Given the description of an element on the screen output the (x, y) to click on. 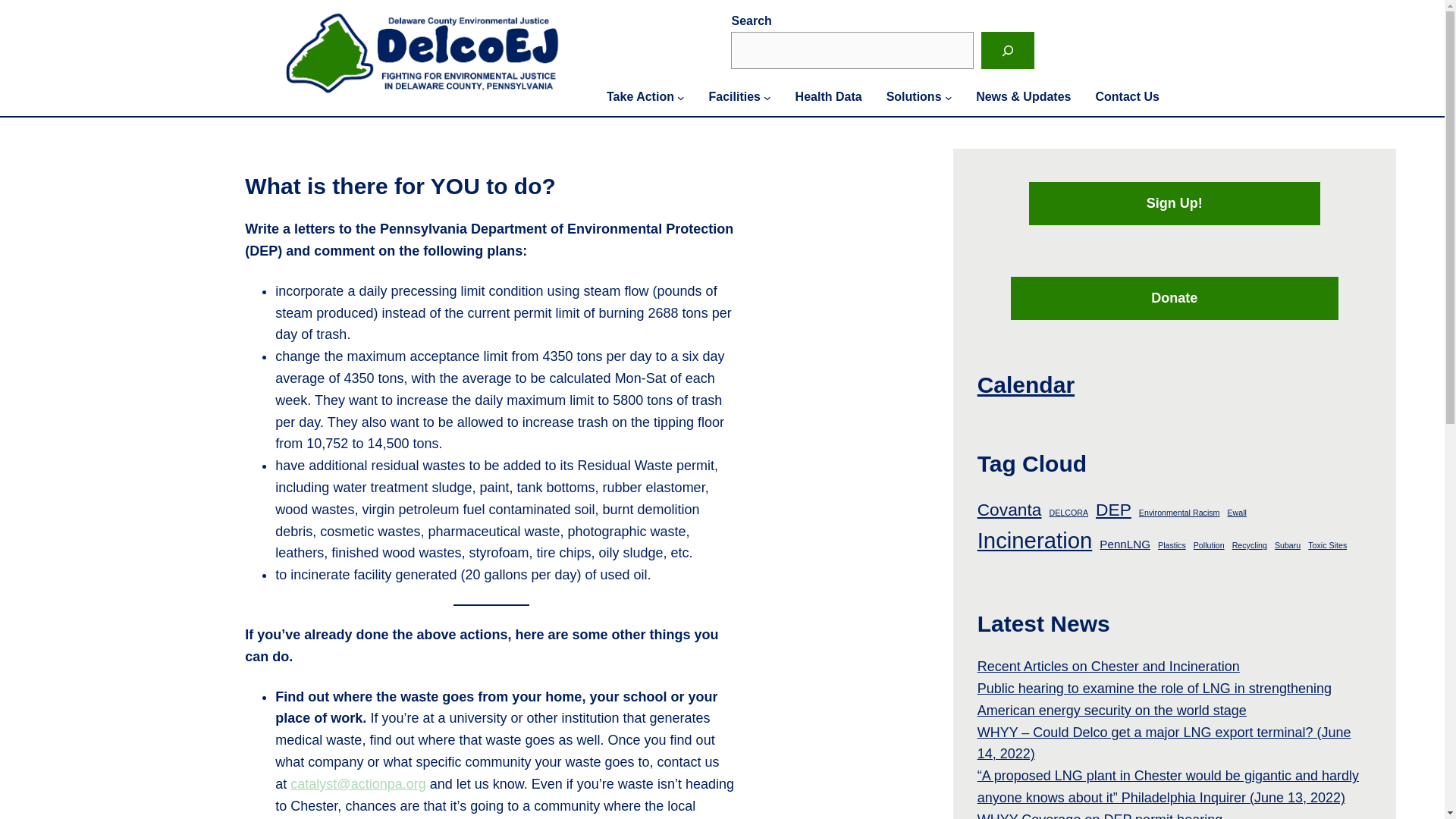
Health Data (827, 96)
Sign Up! (1174, 203)
Incineration (1034, 540)
Ewall (1236, 512)
DELCORA (1067, 512)
Donate (1174, 298)
Environmental Racism (1179, 512)
Take Action (640, 96)
Solutions (914, 96)
Calendar (1025, 384)
Facilities (734, 96)
Contact Us (1126, 96)
DEP (1113, 509)
PennLNG (1124, 544)
Covanta (1009, 509)
